Given the description of an element on the screen output the (x, y) to click on. 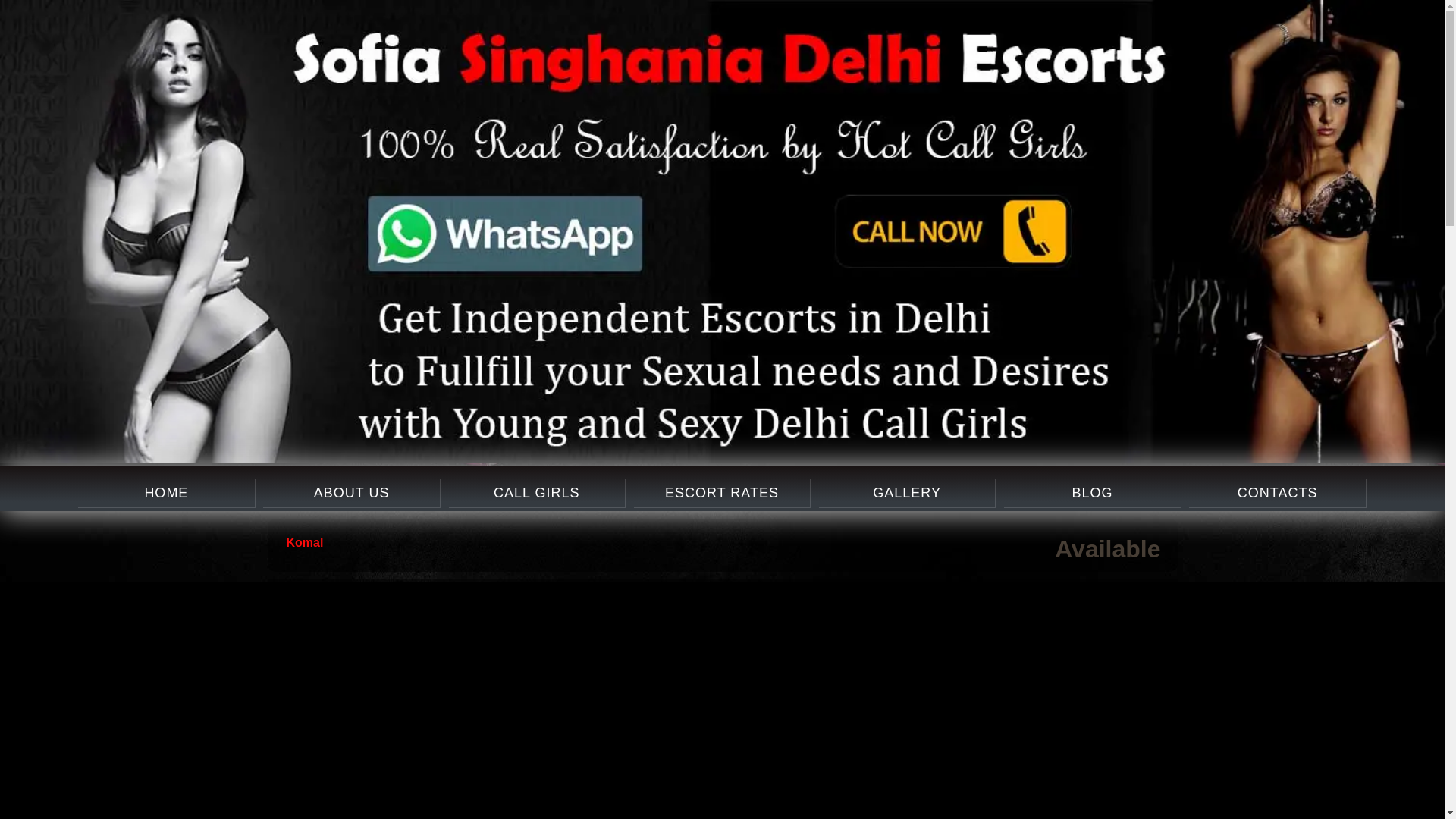
HOME (165, 493)
ABOUT US (351, 493)
BLOG (1091, 493)
GALLERY (906, 493)
ESCORT RATES (721, 493)
CONTACTS (1277, 493)
CALL GIRLS (536, 493)
